Given the description of an element on the screen output the (x, y) to click on. 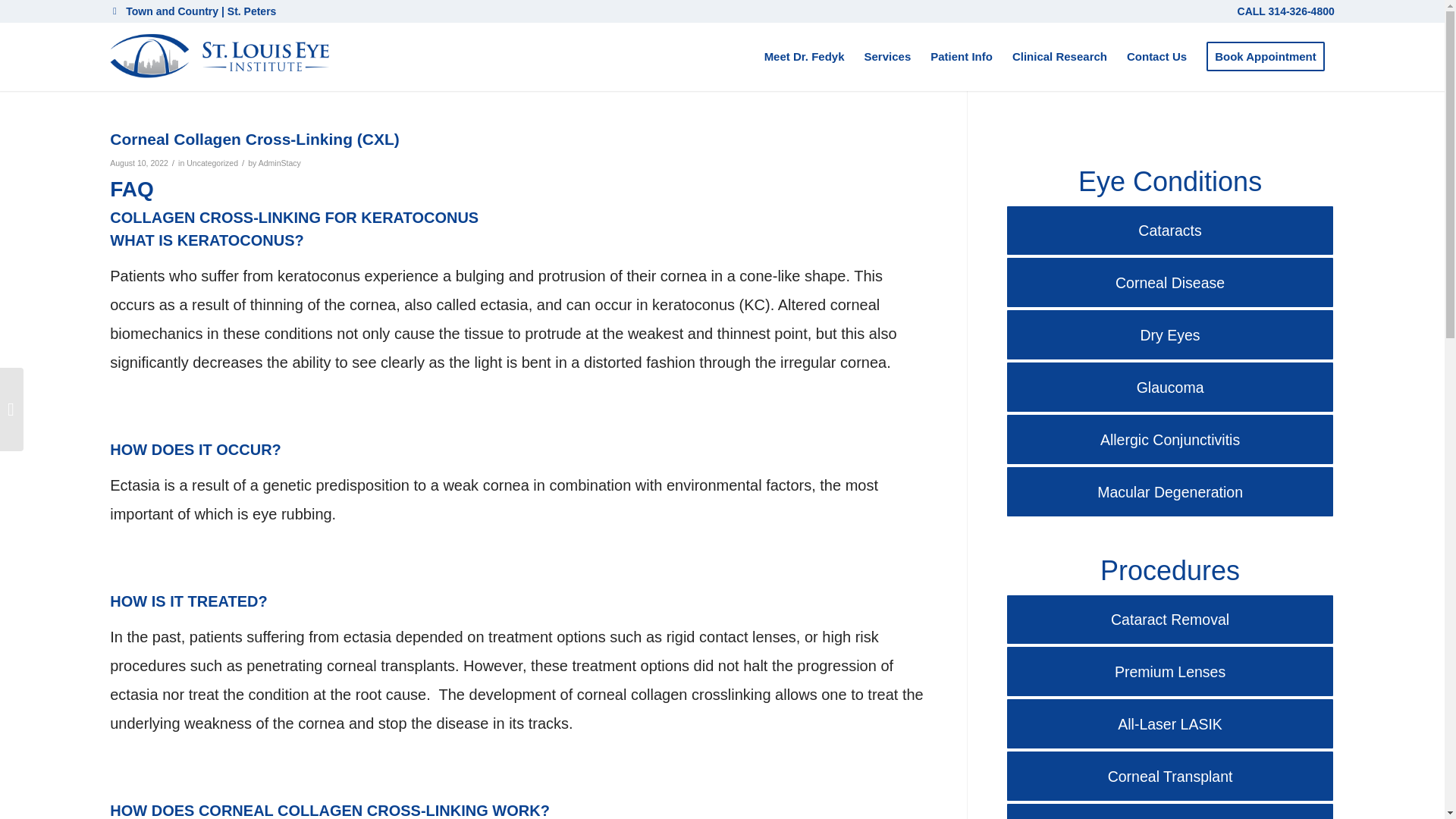
Meet Dr. Fedyk (804, 56)
Posts by AdminStacy (280, 162)
CALL 314-326-4800 (1286, 11)
Town and Country (171, 10)
Allergic Conjunctivitis (1169, 439)
Dry Eyes (1169, 334)
Cataracts (1169, 230)
AdminStacy (280, 162)
Services (886, 56)
Corneal Disease (1169, 282)
St-Louis-eye (220, 56)
Facebook (114, 11)
Macular Degeneration (1169, 491)
Contact Us (1156, 56)
Uncategorized (212, 162)
